Given the description of an element on the screen output the (x, y) to click on. 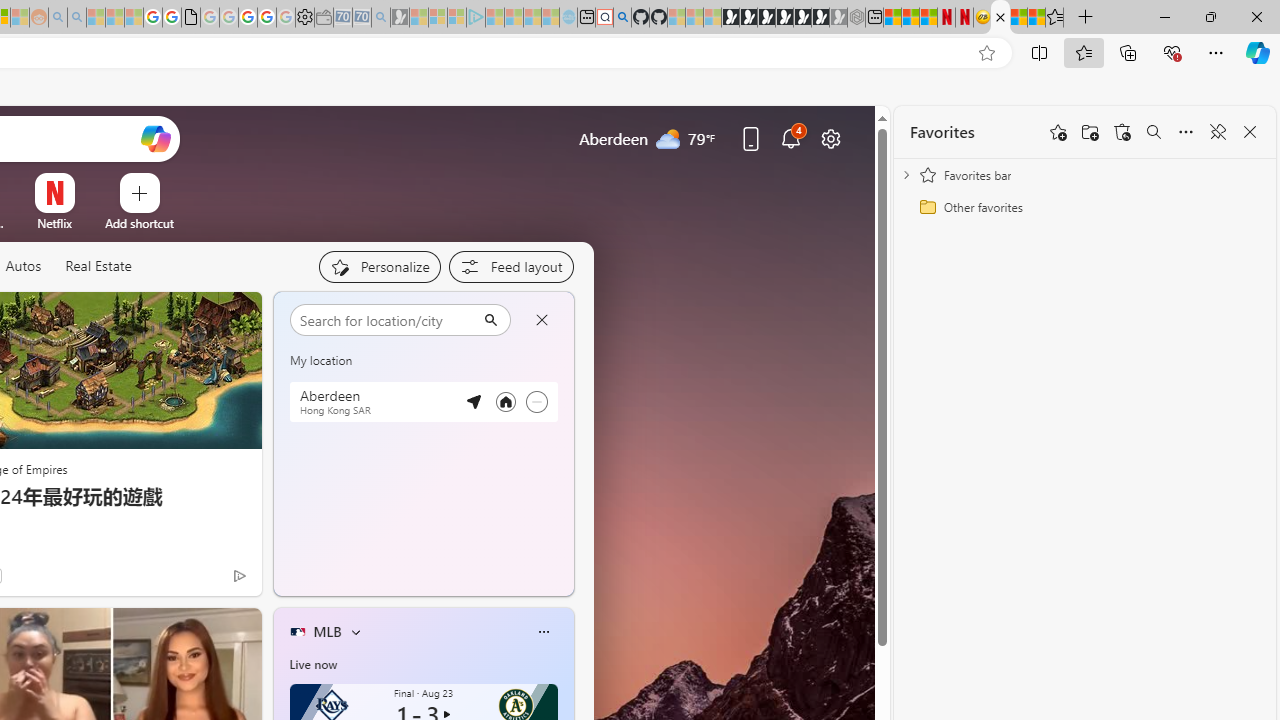
tab-0 (295, 579)
Unpin favorites (1217, 132)
Add folder (1089, 132)
search (386, 319)
